Given the description of an element on the screen output the (x, y) to click on. 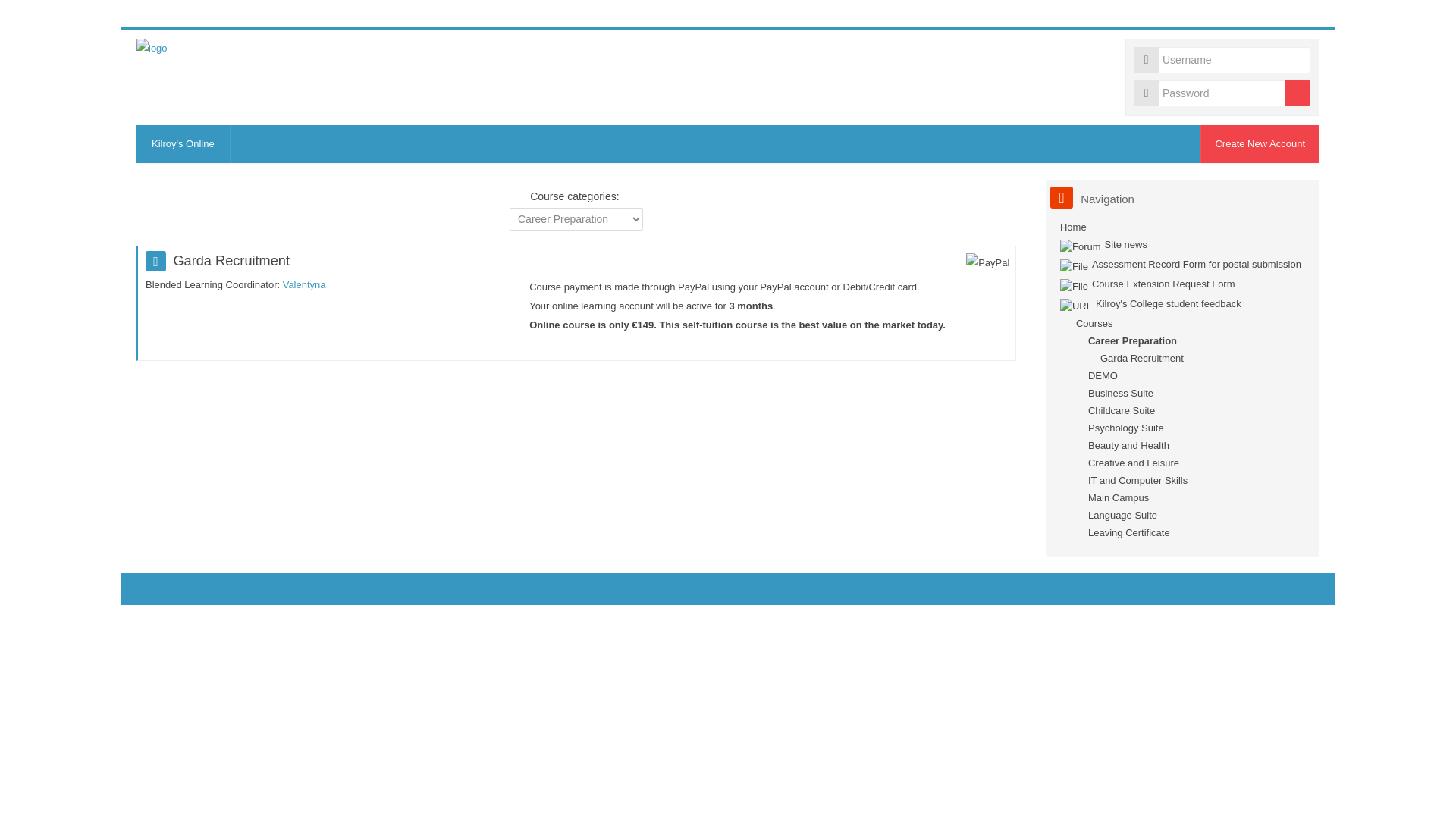
Kilroy's College student feedback (1150, 303)
Create New Account (1259, 143)
File (1180, 264)
Valentyna (304, 284)
Courses (1093, 323)
Home (1072, 226)
Garda Recruitment (1133, 357)
Garda Recruitment (1133, 357)
Forum (1103, 244)
Site news (1103, 244)
